Given the description of an element on the screen output the (x, y) to click on. 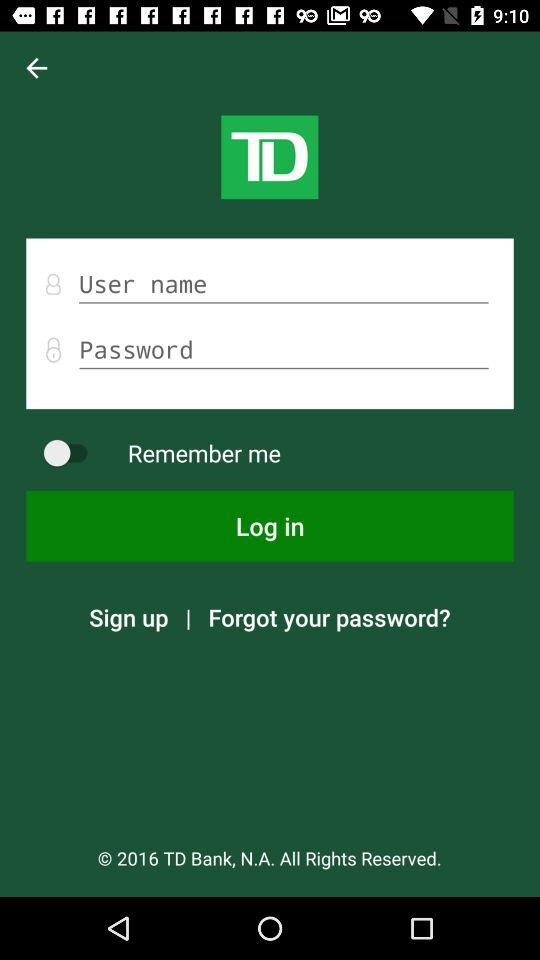
jump until forgot your password? icon (329, 617)
